Given the description of an element on the screen output the (x, y) to click on. 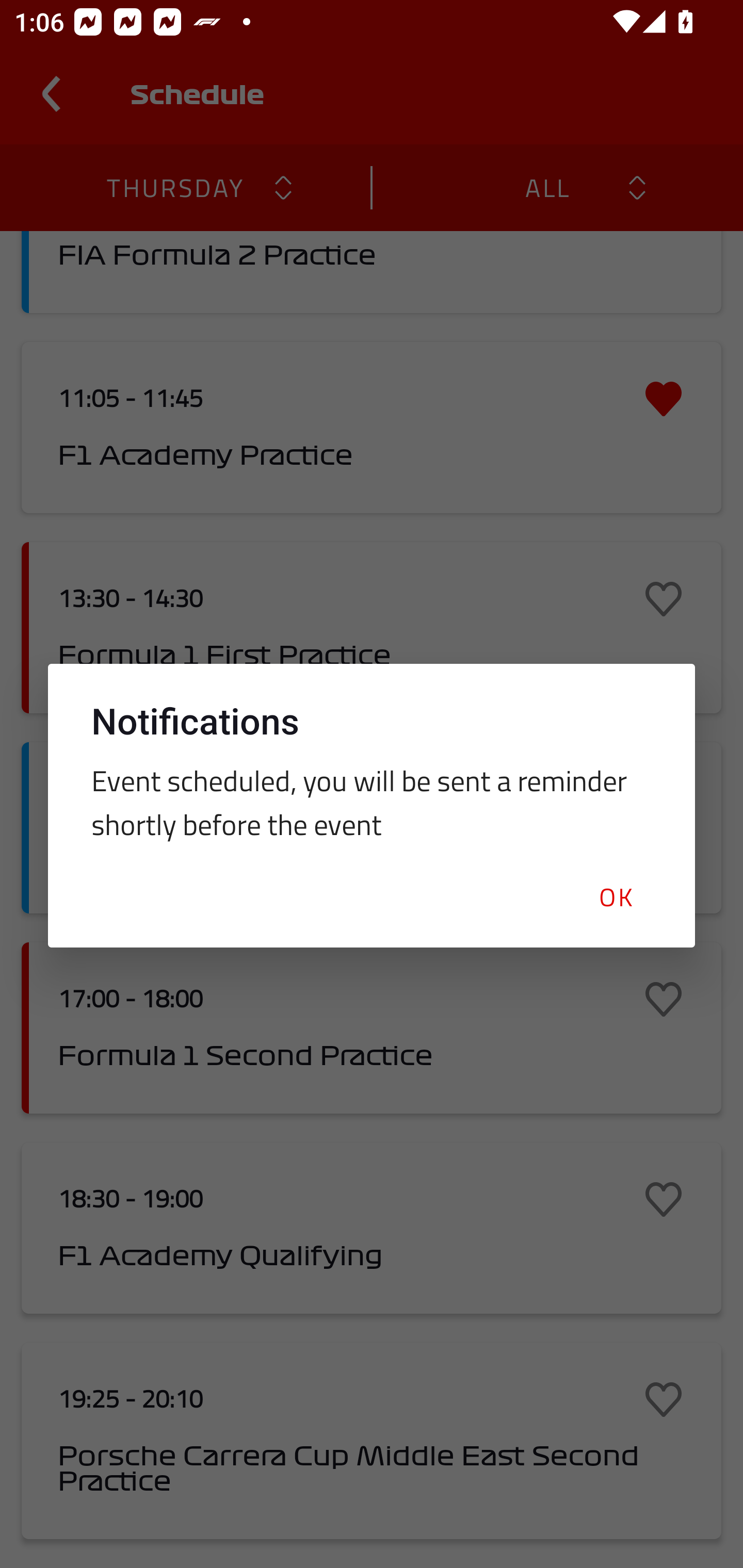
OK (615, 896)
